Given the description of an element on the screen output the (x, y) to click on. 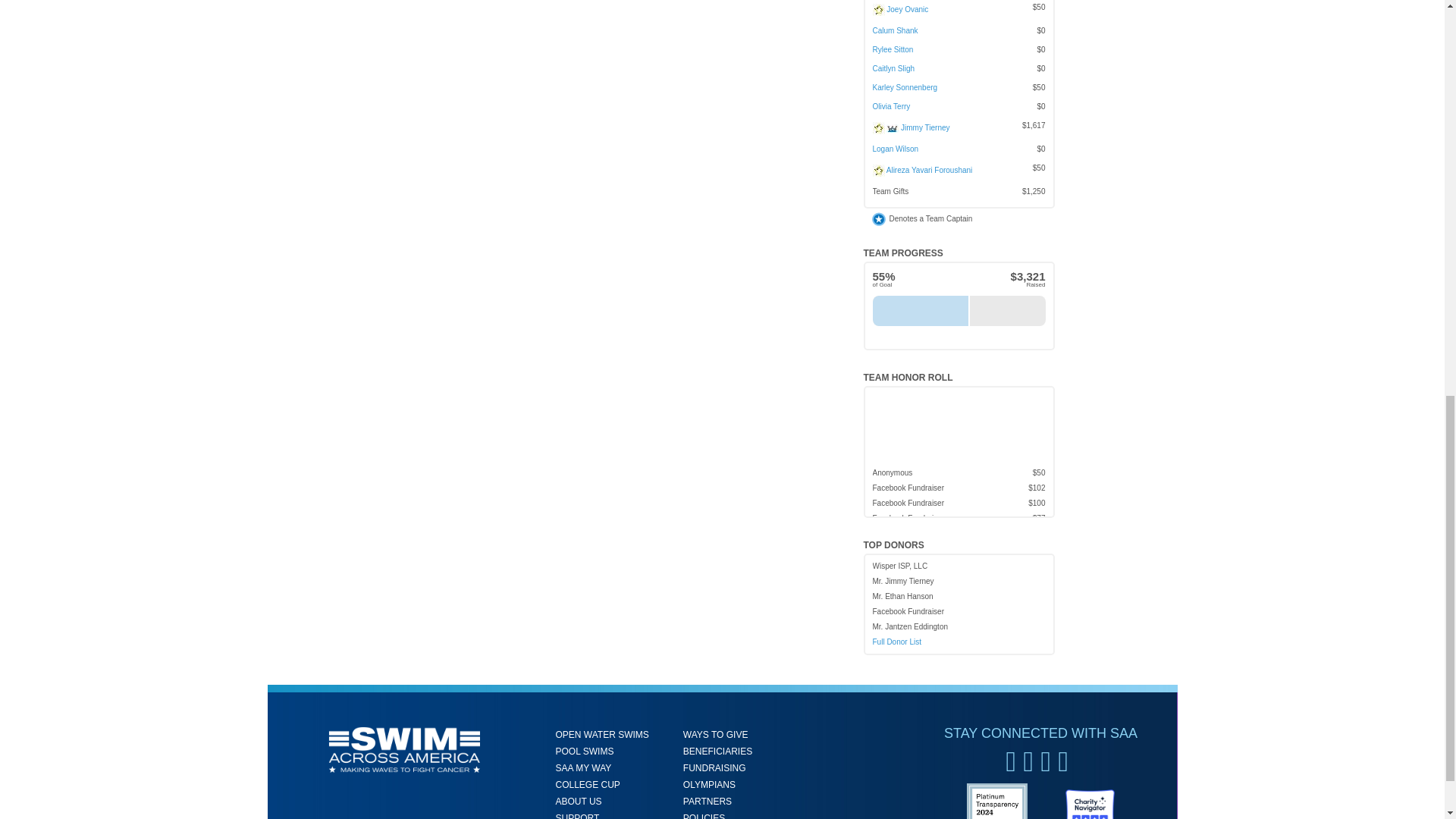
Fundraiser Kickstarter (877, 170)
Fundraiser Kickstarter (877, 128)
"SAA Superstar"  Badge (892, 128)
Fundraiser Kickstarter (877, 9)
